Given the description of an element on the screen output the (x, y) to click on. 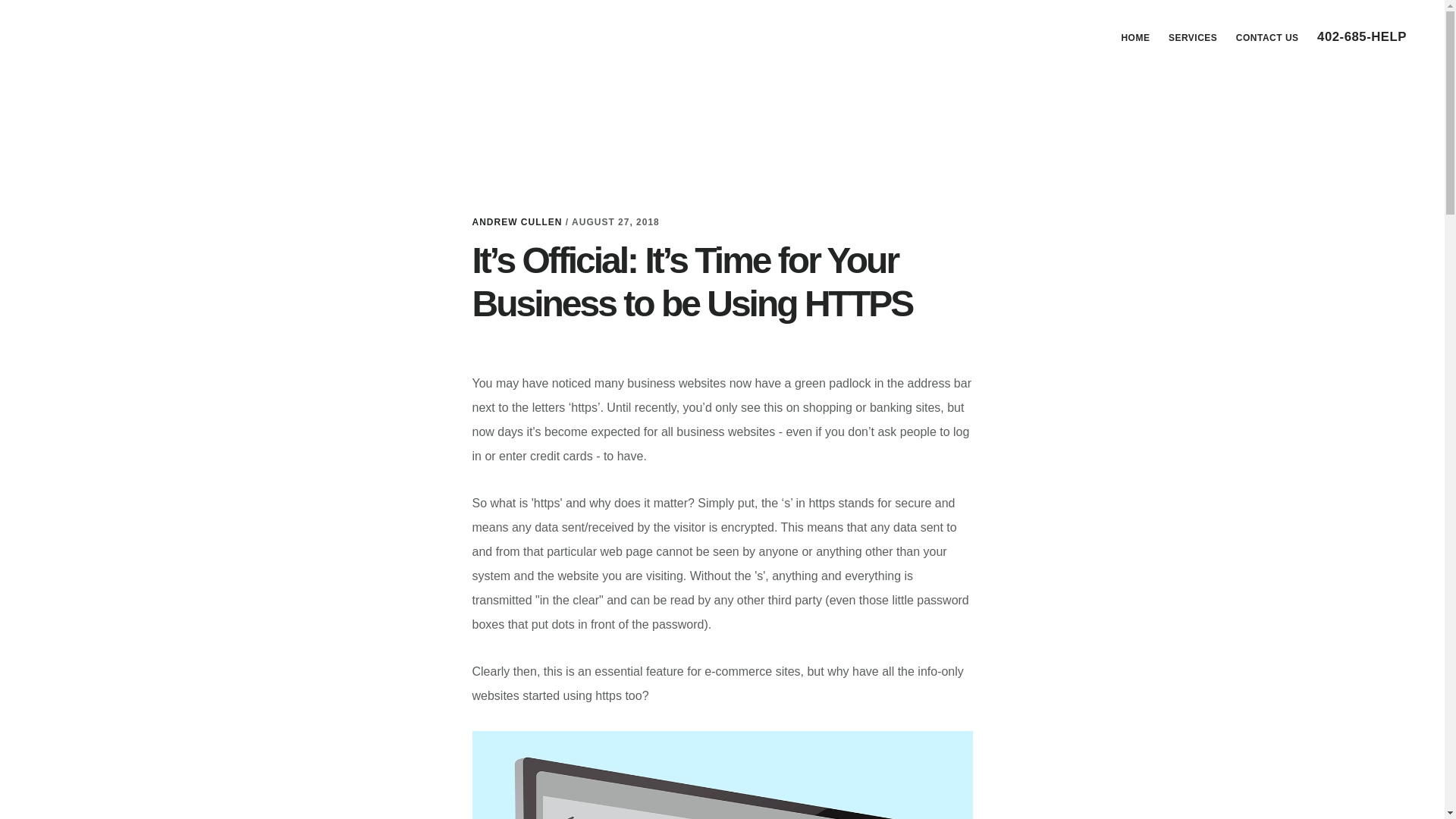
ANDREW CULLEN (516, 222)
NOVUS COMPUTERS (143, 32)
402-685-HELP (1360, 37)
SERVICES (1192, 37)
HOME (1135, 37)
CONTACT US (1267, 37)
